Given the description of an element on the screen output the (x, y) to click on. 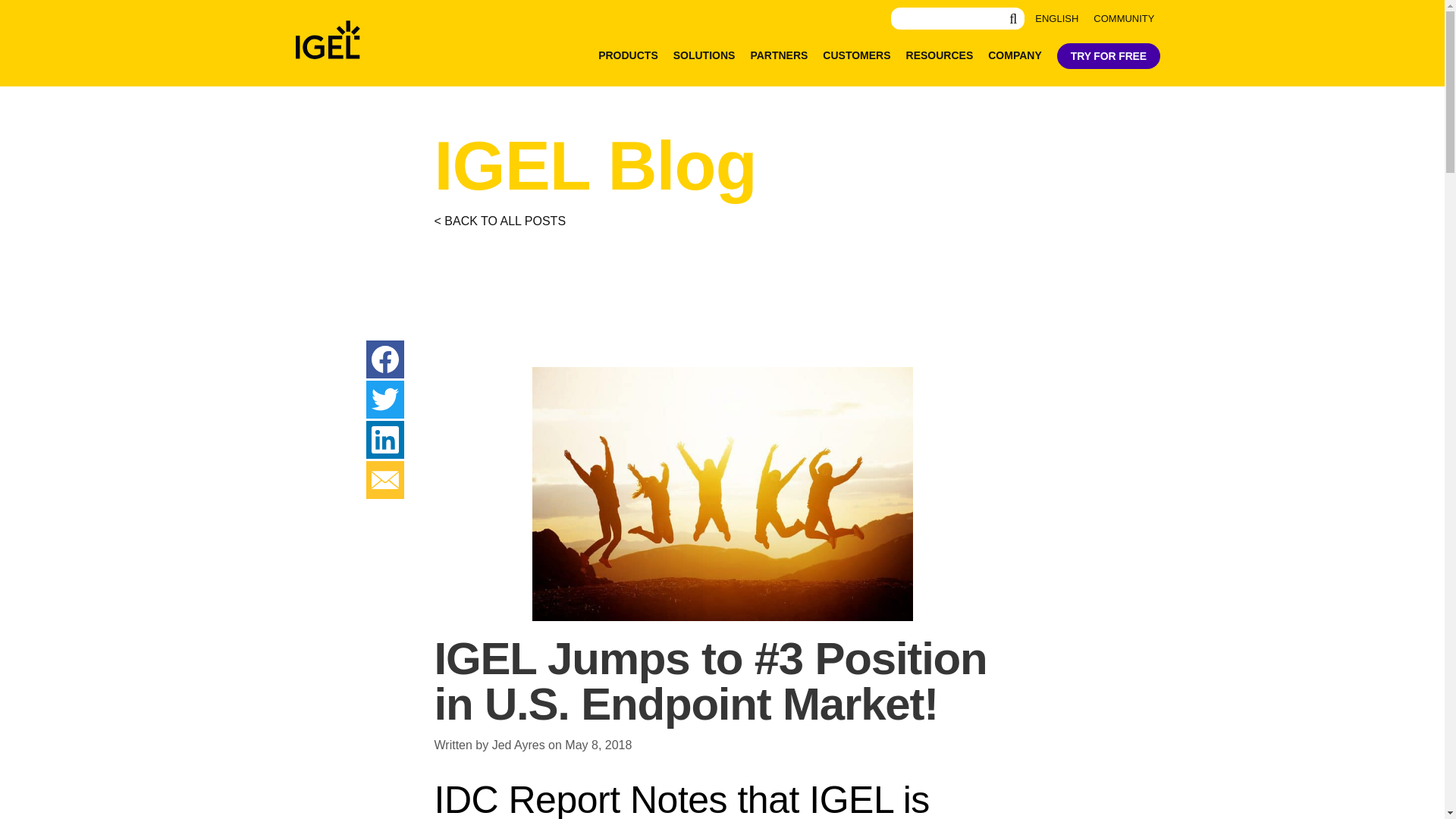
ENGLISH (1056, 18)
COMMUNITY (1123, 18)
English (1056, 18)
